Given the description of an element on the screen output the (x, y) to click on. 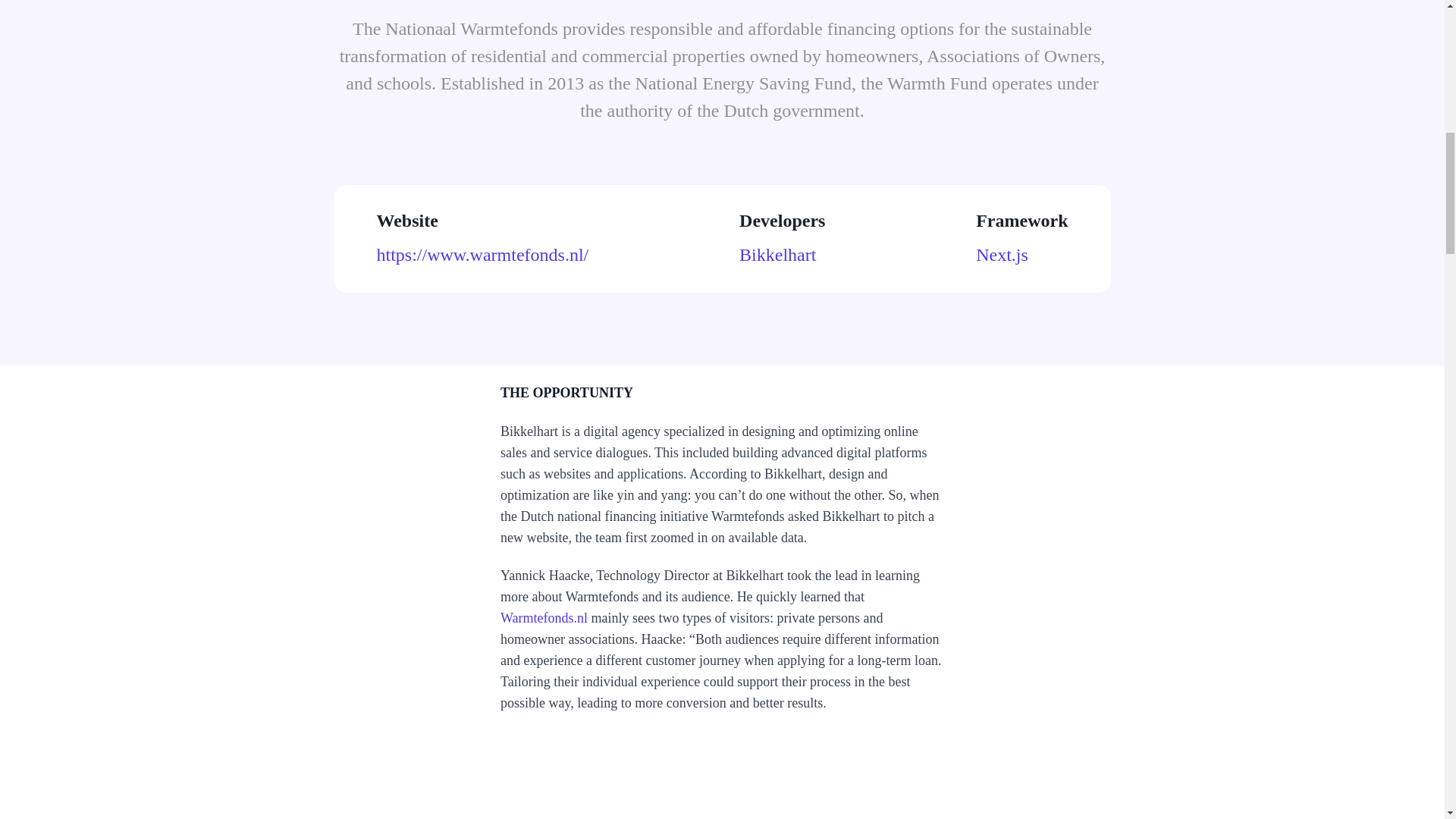
Next.js (1021, 254)
Bikkelhart (782, 254)
Warmtefonds.nl (544, 617)
